Given the description of an element on the screen output the (x, y) to click on. 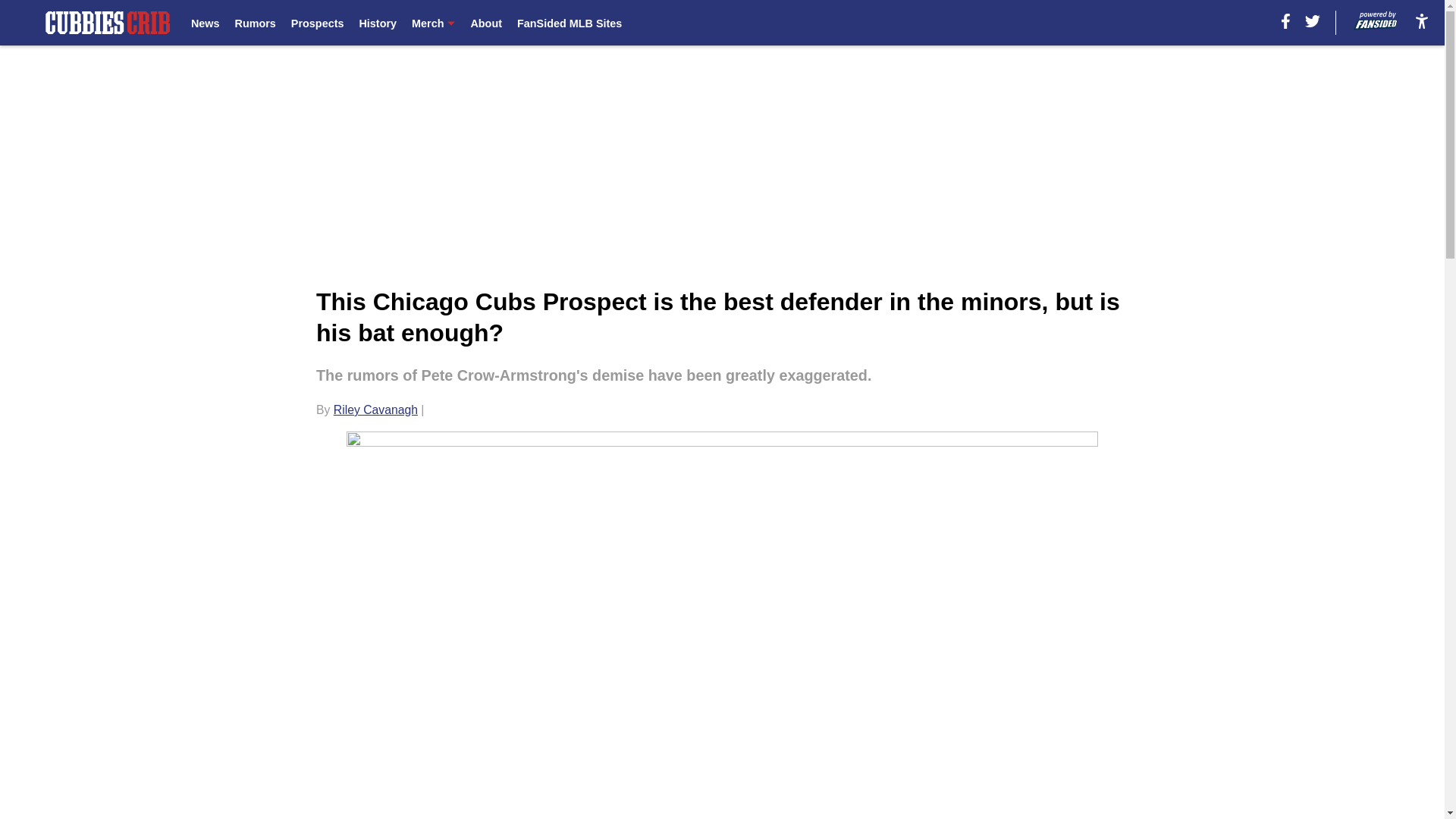
News (204, 23)
FanSided MLB Sites (568, 23)
Rumors (254, 23)
Prospects (317, 23)
Riley Cavanagh (375, 409)
History (377, 23)
About (486, 23)
